Given the description of an element on the screen output the (x, y) to click on. 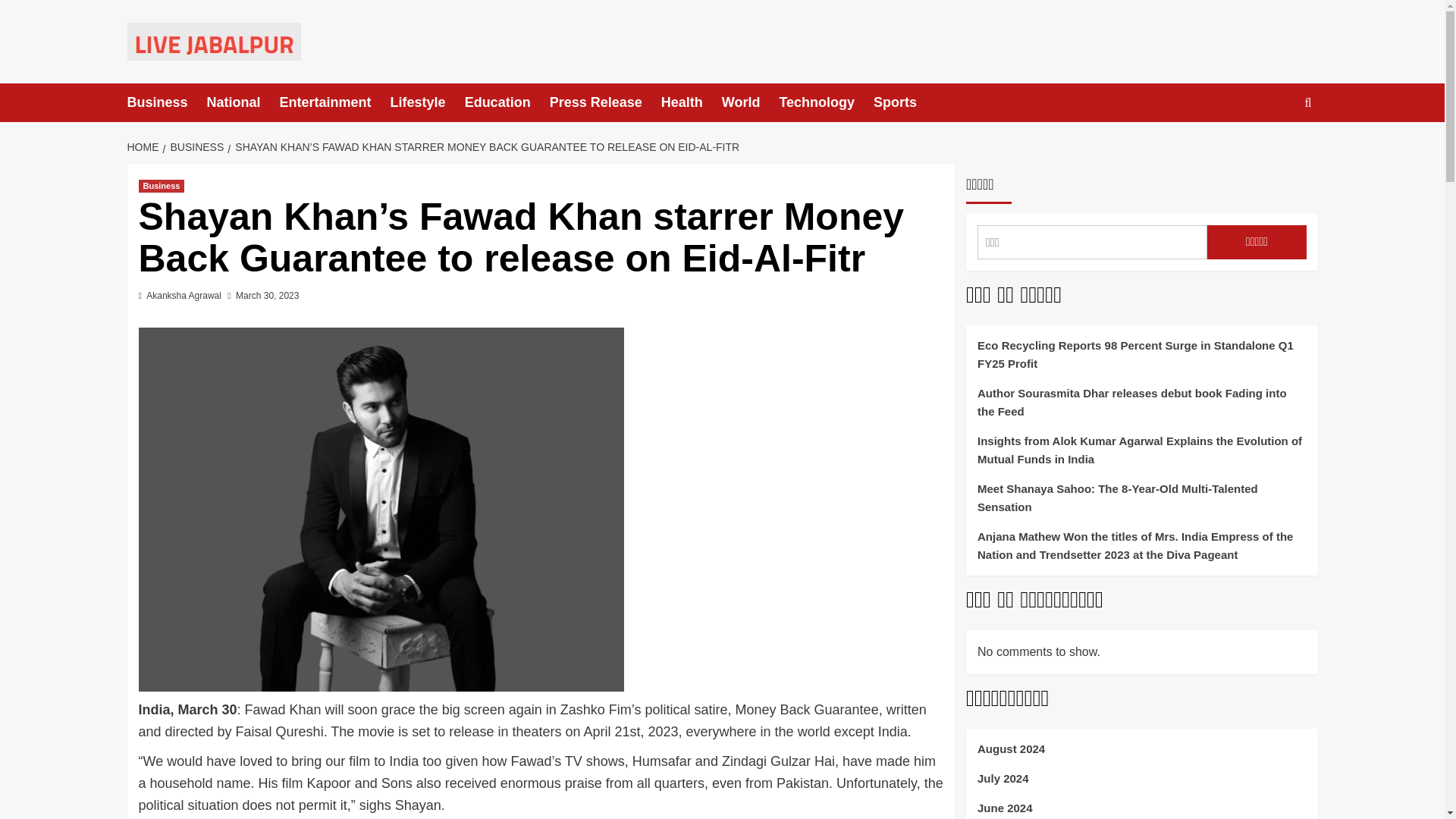
March 30, 2023 (266, 295)
Akanksha Agrawal (184, 295)
Business (167, 102)
Entertainment (334, 102)
National (242, 102)
HOME (145, 146)
Technology (825, 102)
Education (507, 102)
Search (1272, 148)
Business (161, 185)
